Given the description of an element on the screen output the (x, y) to click on. 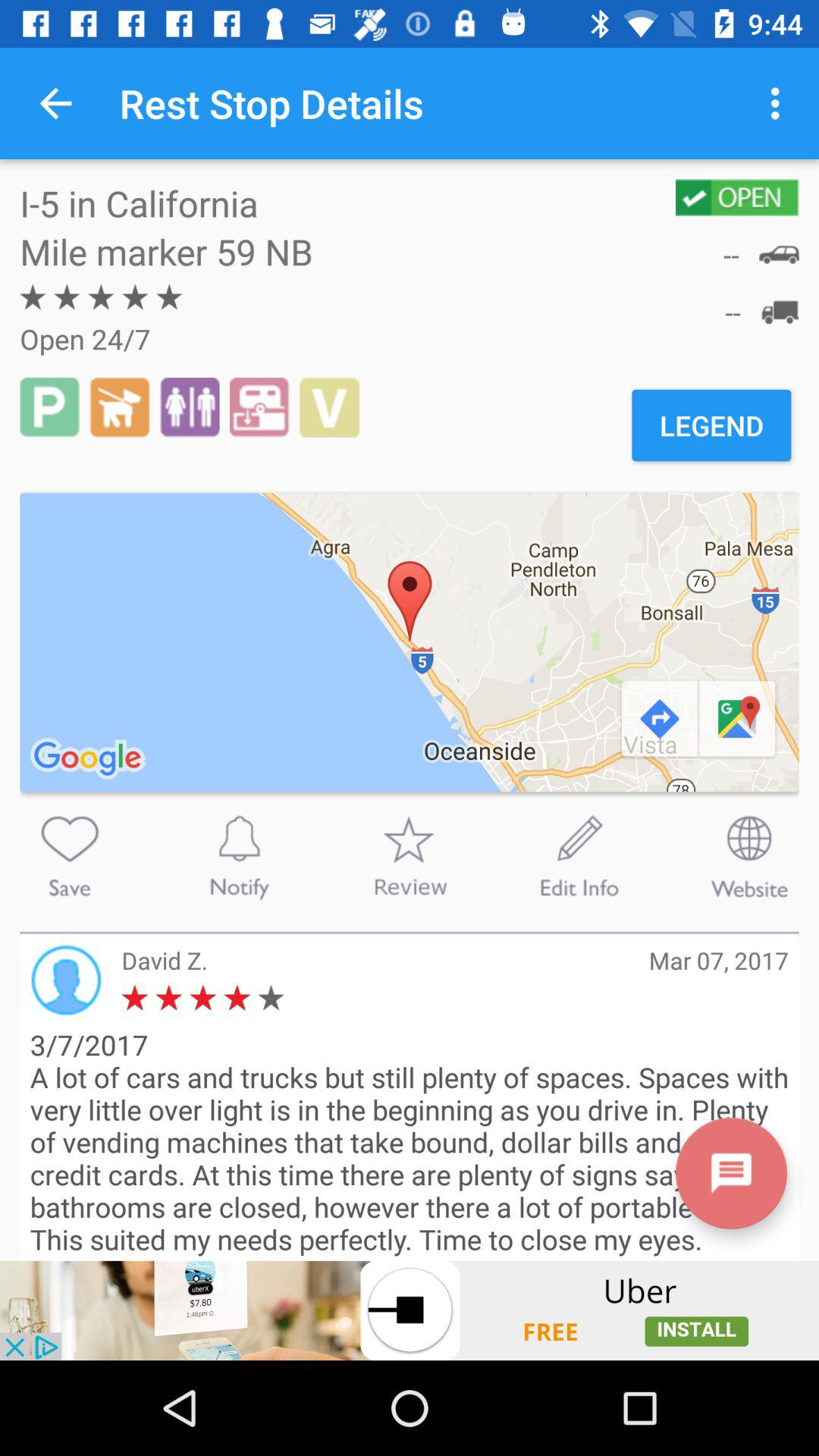
menu (731, 1173)
